Given the description of an element on the screen output the (x, y) to click on. 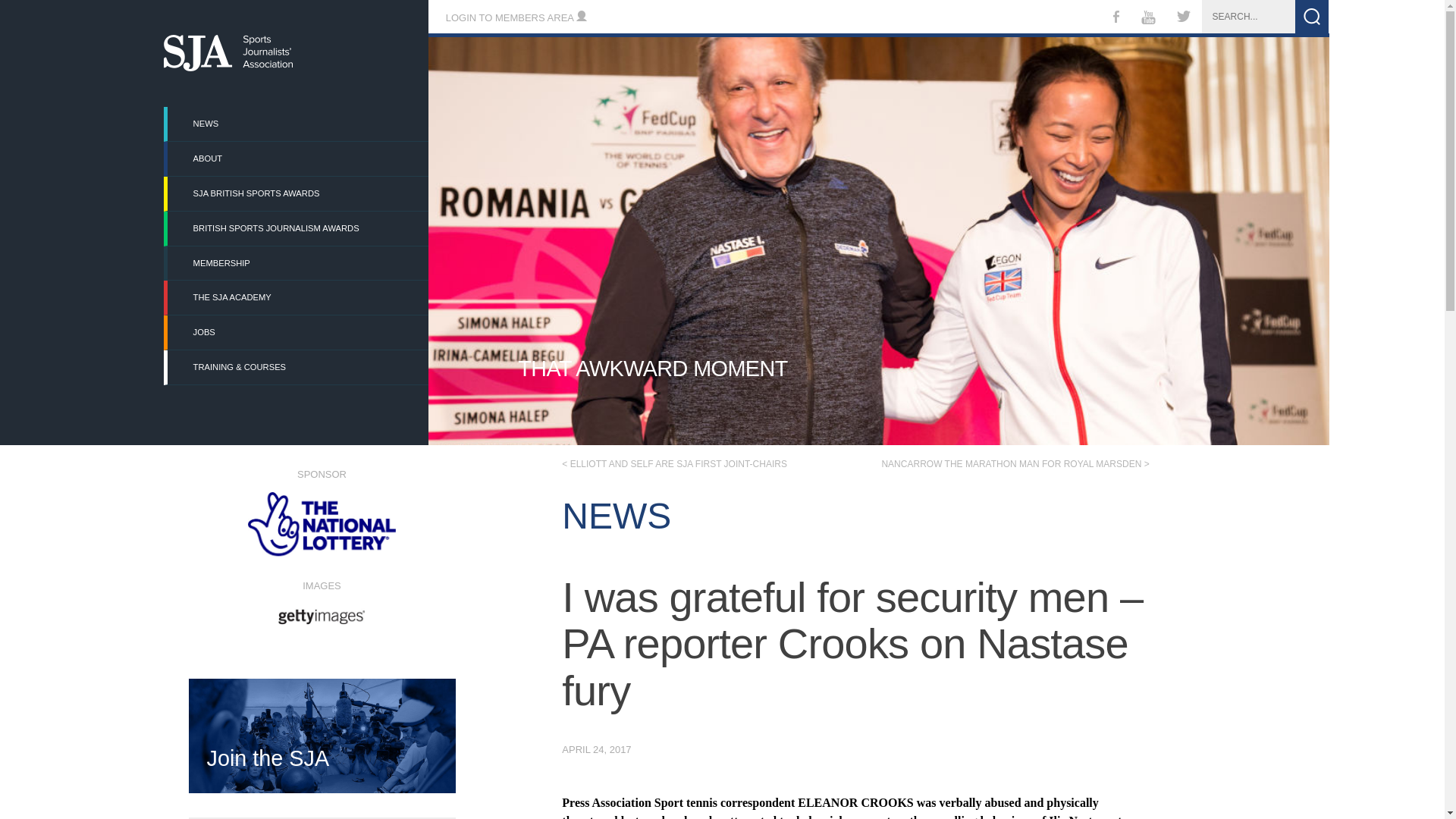
AIPS page (588, 609)
IMAGES (320, 600)
LOGIN TO MEMBERS AREA (514, 18)
THE SJA ACADEMY (297, 297)
NEWS (297, 123)
MEMBERSHIP (297, 263)
SPONSOR (320, 512)
JOBS (297, 332)
Login to Members Area (514, 18)
AFFILIATE (588, 609)
